Given the description of an element on the screen output the (x, y) to click on. 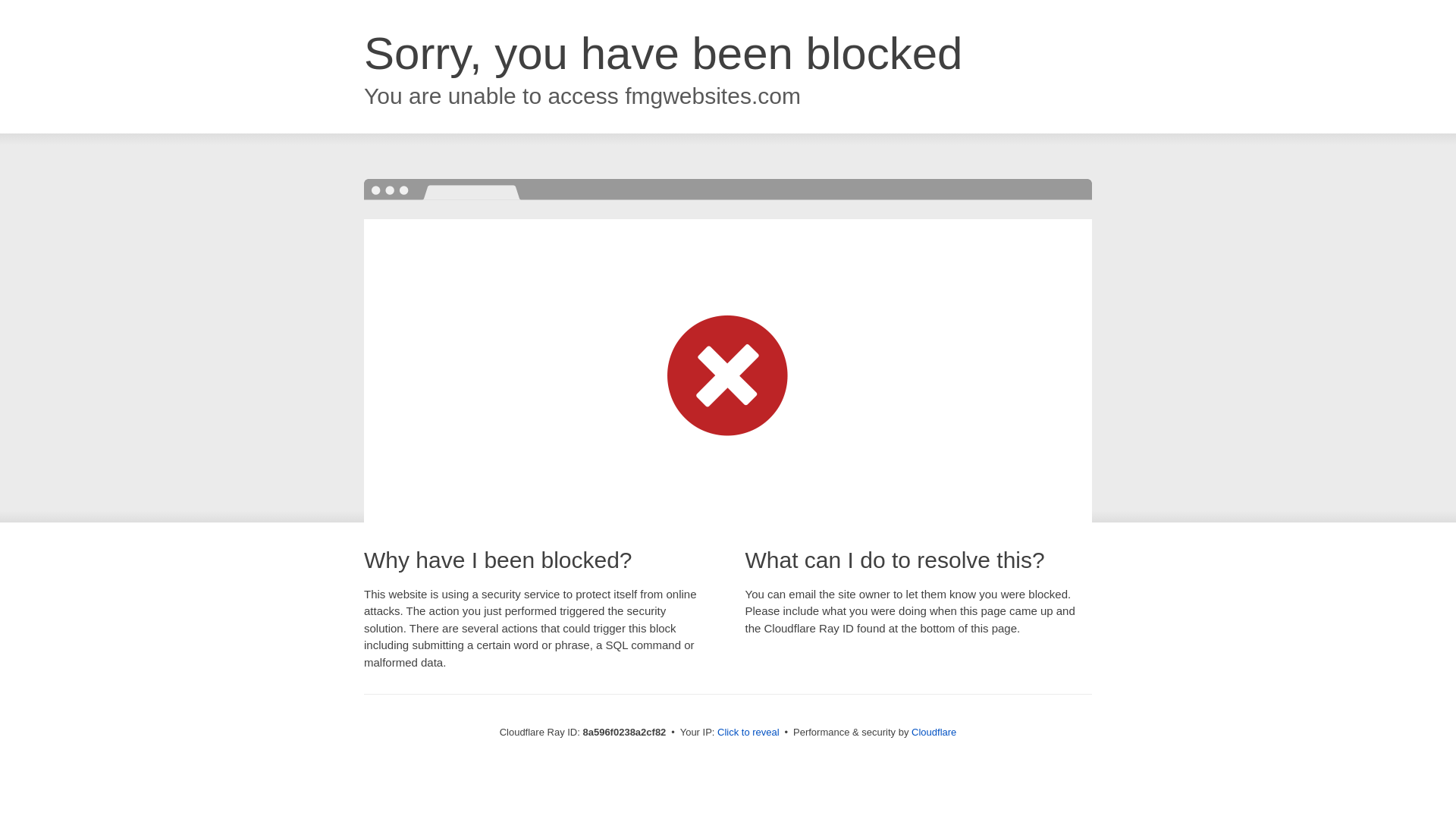
Cloudflare (933, 731)
Click to reveal (747, 732)
